Given the description of an element on the screen output the (x, y) to click on. 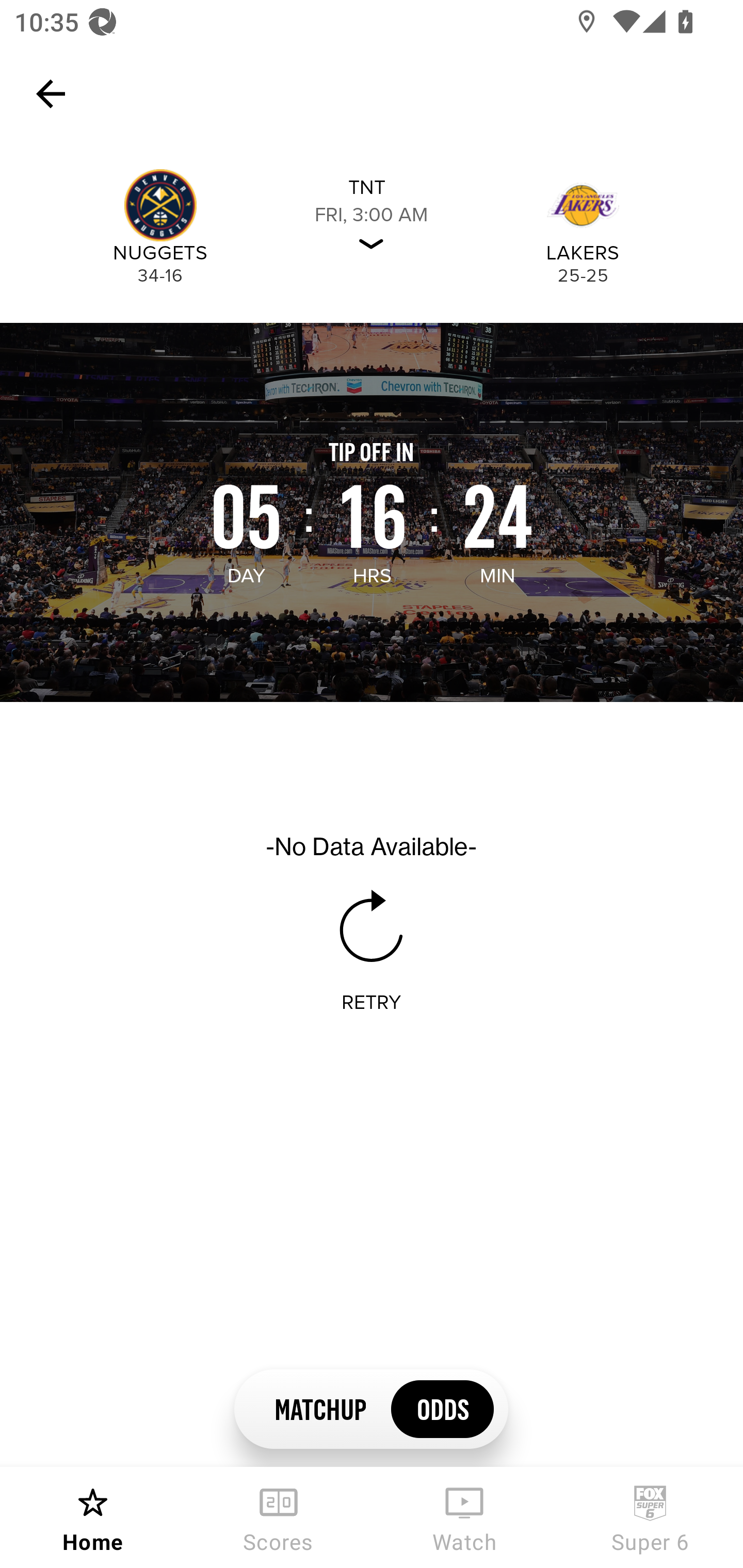
Navigate up (50, 93)
RETRY (371, 1002)
MATCHUP (319, 1408)
Scores (278, 1517)
Watch (464, 1517)
Super 6 (650, 1517)
